Given the description of an element on the screen output the (x, y) to click on. 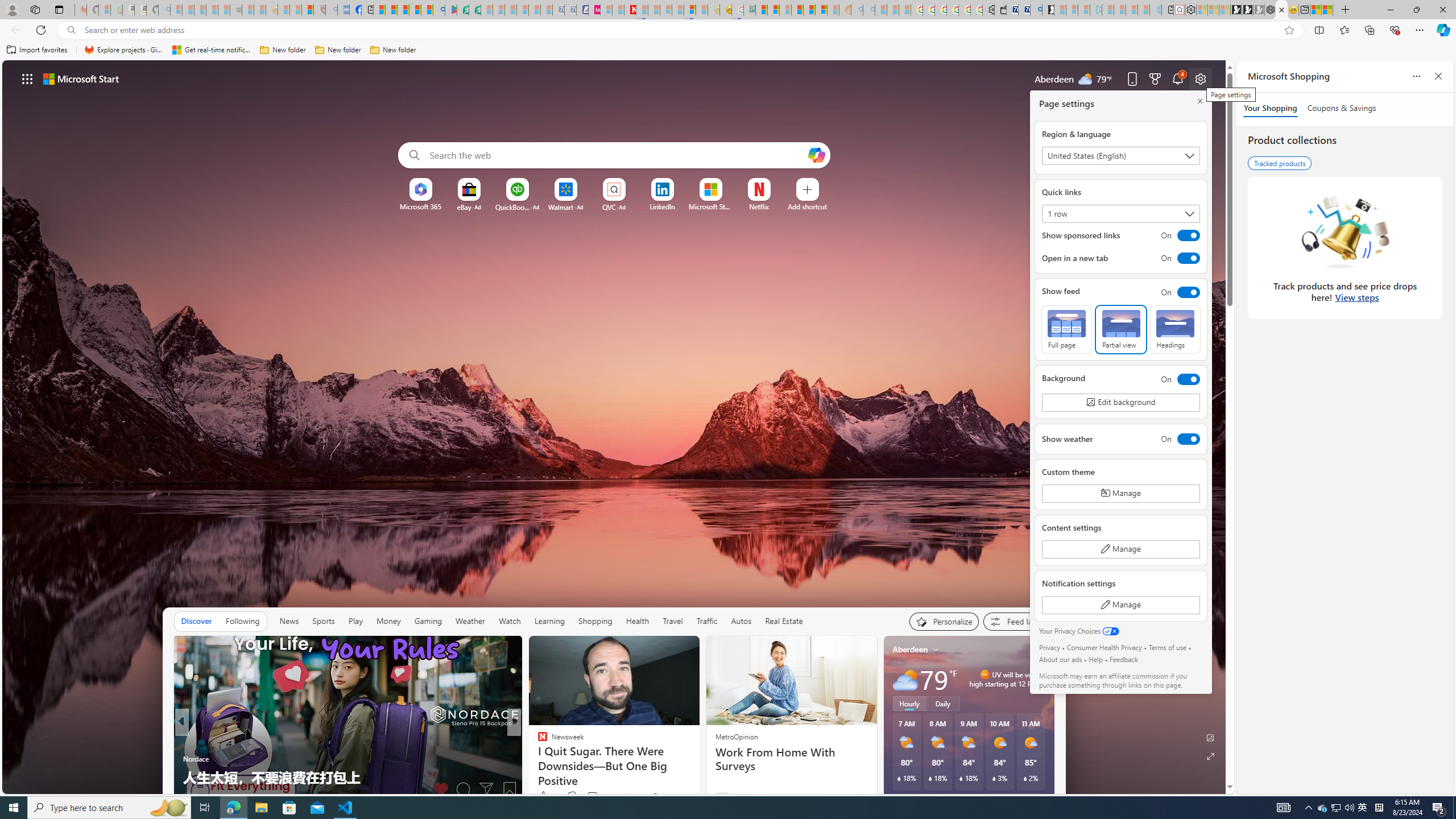
Expand background (1210, 756)
Money (387, 621)
Travel (672, 621)
Cheap Car Rentals - Save70.com (1024, 9)
Headings (1174, 328)
Gaming (428, 621)
About our ads (1060, 658)
Traffic (706, 621)
New folder (392, 49)
Edit Background (1210, 737)
Play (354, 621)
